Given the description of an element on the screen output the (x, y) to click on. 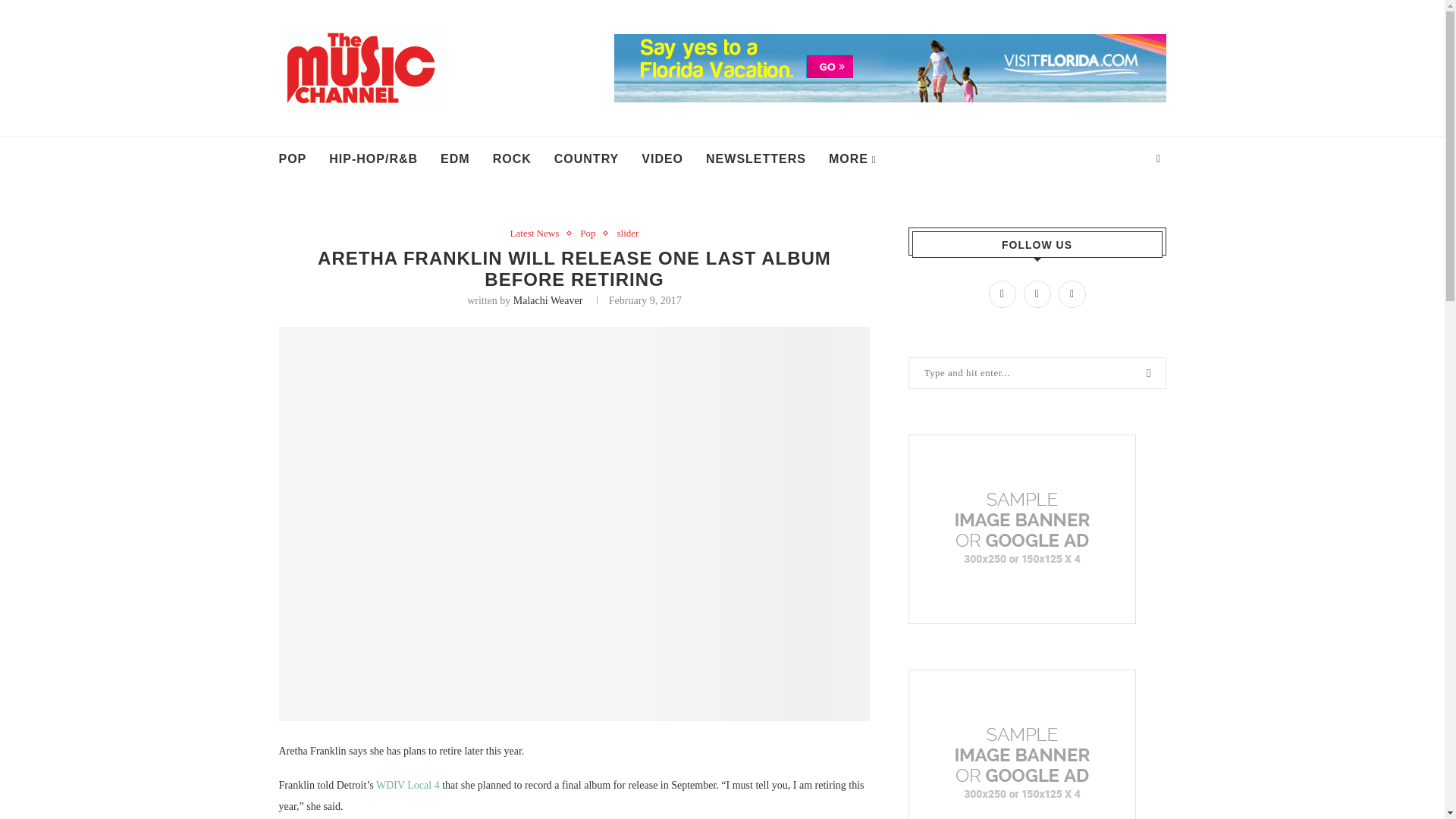
slider (627, 233)
Pop (590, 233)
MORE (852, 159)
WDIV Local 4 (407, 785)
COUNTRY (587, 158)
Malachi Weaver (548, 300)
VIDEO (662, 158)
NEWSLETTERS (756, 158)
Latest News (539, 233)
